Given the description of an element on the screen output the (x, y) to click on. 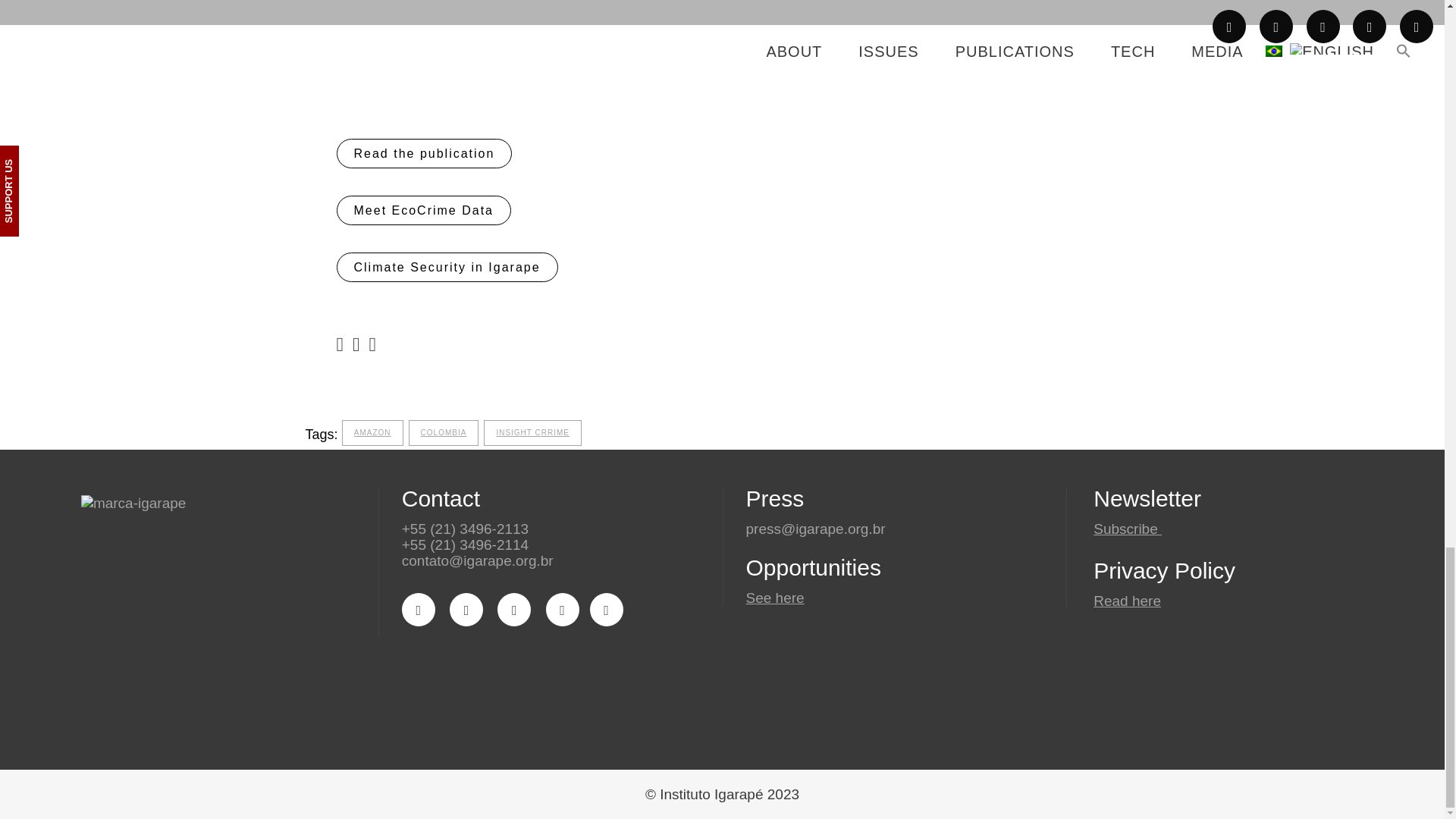
Share on Twitter (355, 343)
Share on LinkedIn (371, 343)
Share on Facebook (339, 343)
